Given the description of an element on the screen output the (x, y) to click on. 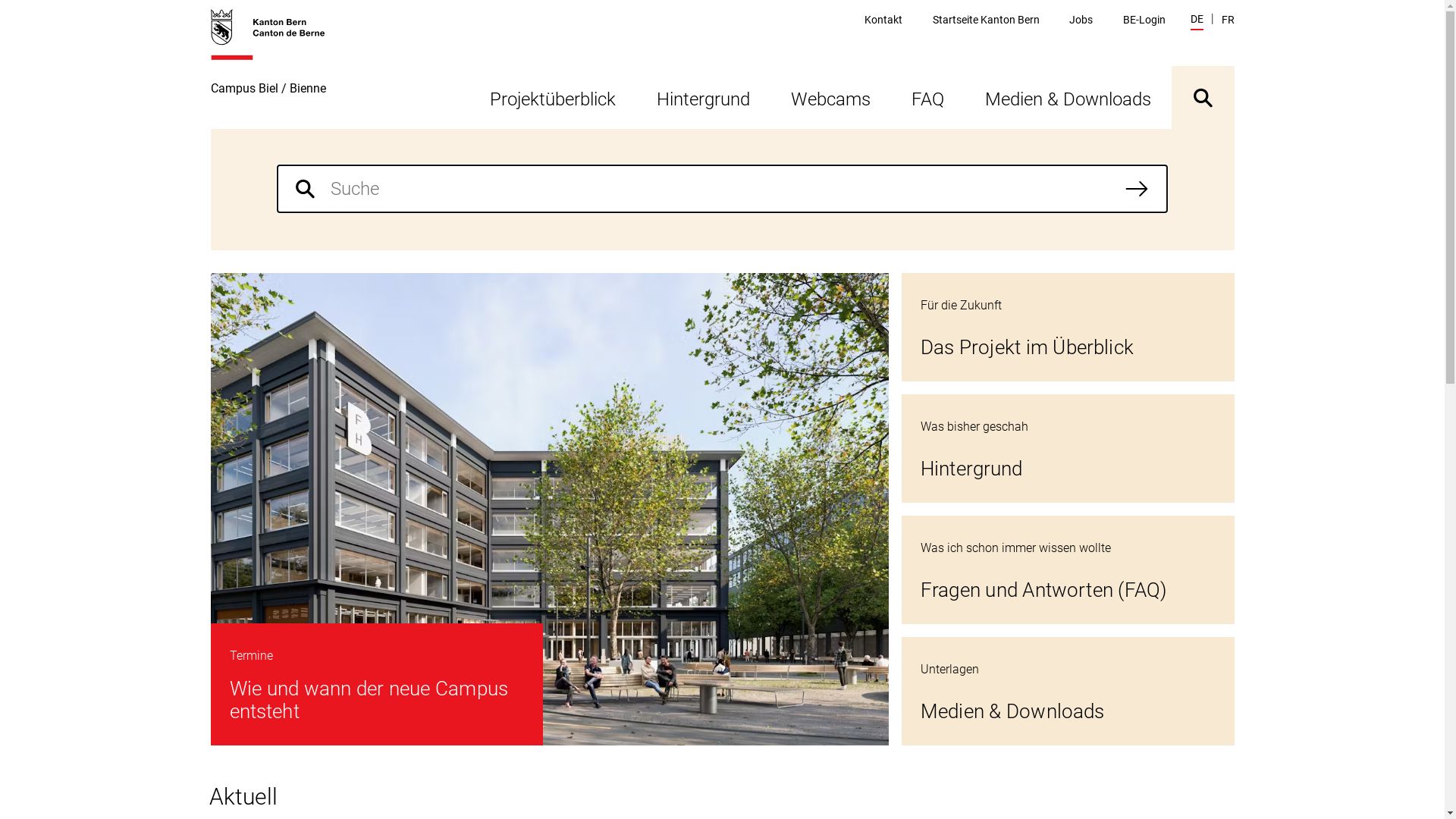
Kontakt Element type: text (883, 19)
Medien & Downloads
Unterlagen Element type: text (1067, 691)
Suche ein- oder ausblenden Element type: text (1201, 96)
Startseite Kanton Bern Element type: text (985, 19)
Jobs Element type: text (1080, 19)
Fragen und Antworten (FAQ)
Was ich schon immer wissen wollte Element type: text (1067, 569)
Hintergrund Element type: text (702, 96)
FR Element type: text (1226, 19)
Hintergrund
Was bisher geschah Element type: text (1067, 448)
Wie und wann der neue Campus entsteht
Termine Element type: text (549, 509)
Campus Biel / Bienne Element type: text (275, 68)
FAQ Element type: text (926, 96)
Suchen Element type: text (1136, 188)
Medien & Downloads Element type: text (1067, 96)
BE-Login Element type: text (1144, 19)
Webcams Element type: text (830, 96)
DE Element type: text (1196, 21)
